Given the description of an element on the screen output the (x, y) to click on. 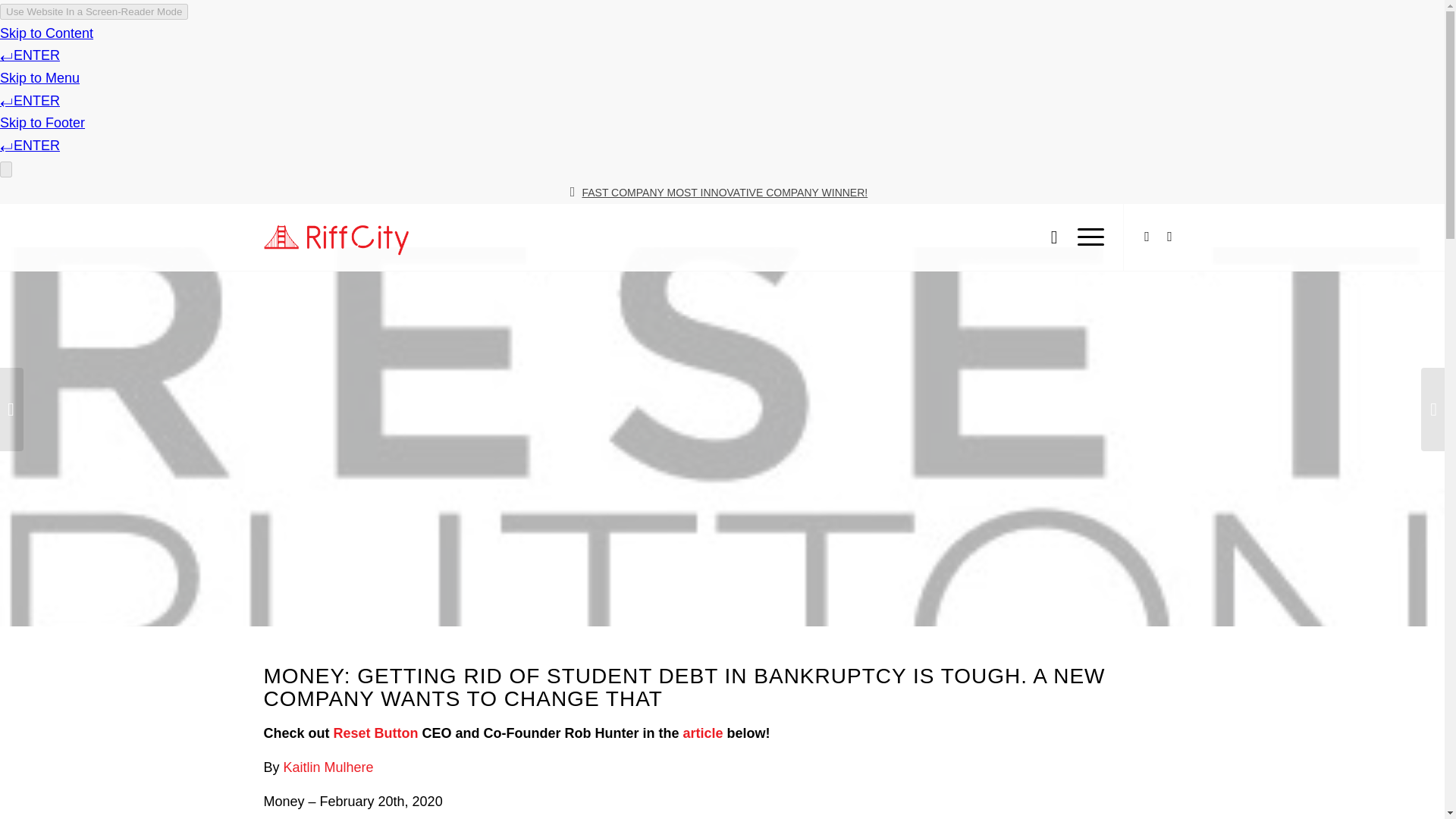
Kaitlin Mulhere (328, 767)
FAST COMPANY MOST INNOVATIVE COMPANY WINNER! (723, 192)
article (702, 733)
Twitter (1146, 235)
LinkedIn (1169, 235)
Reset Button (376, 733)
